Given the description of an element on the screen output the (x, y) to click on. 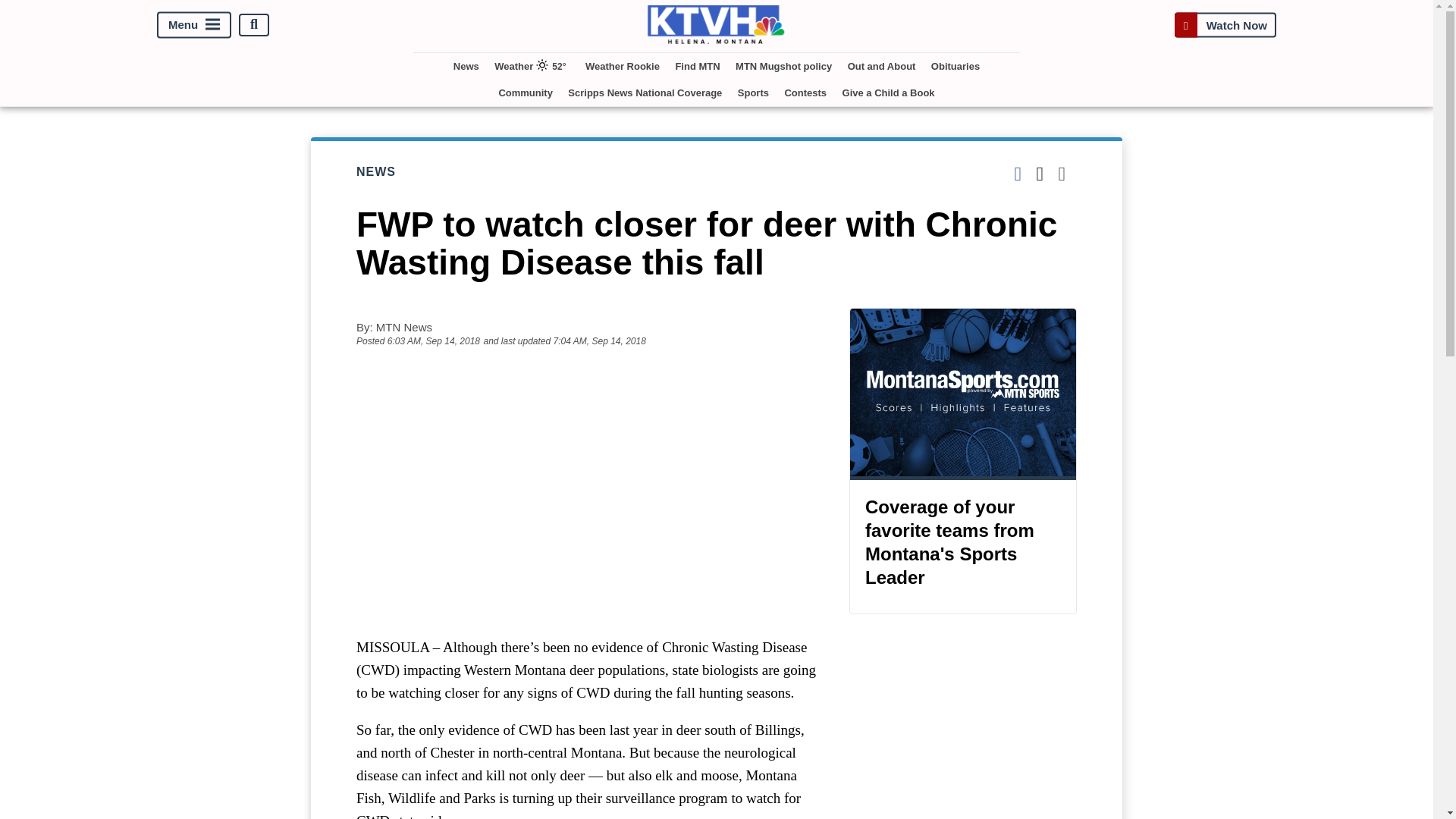
Watch Now (1224, 24)
Menu (194, 24)
YouTube player (587, 491)
